Given the description of an element on the screen output the (x, y) to click on. 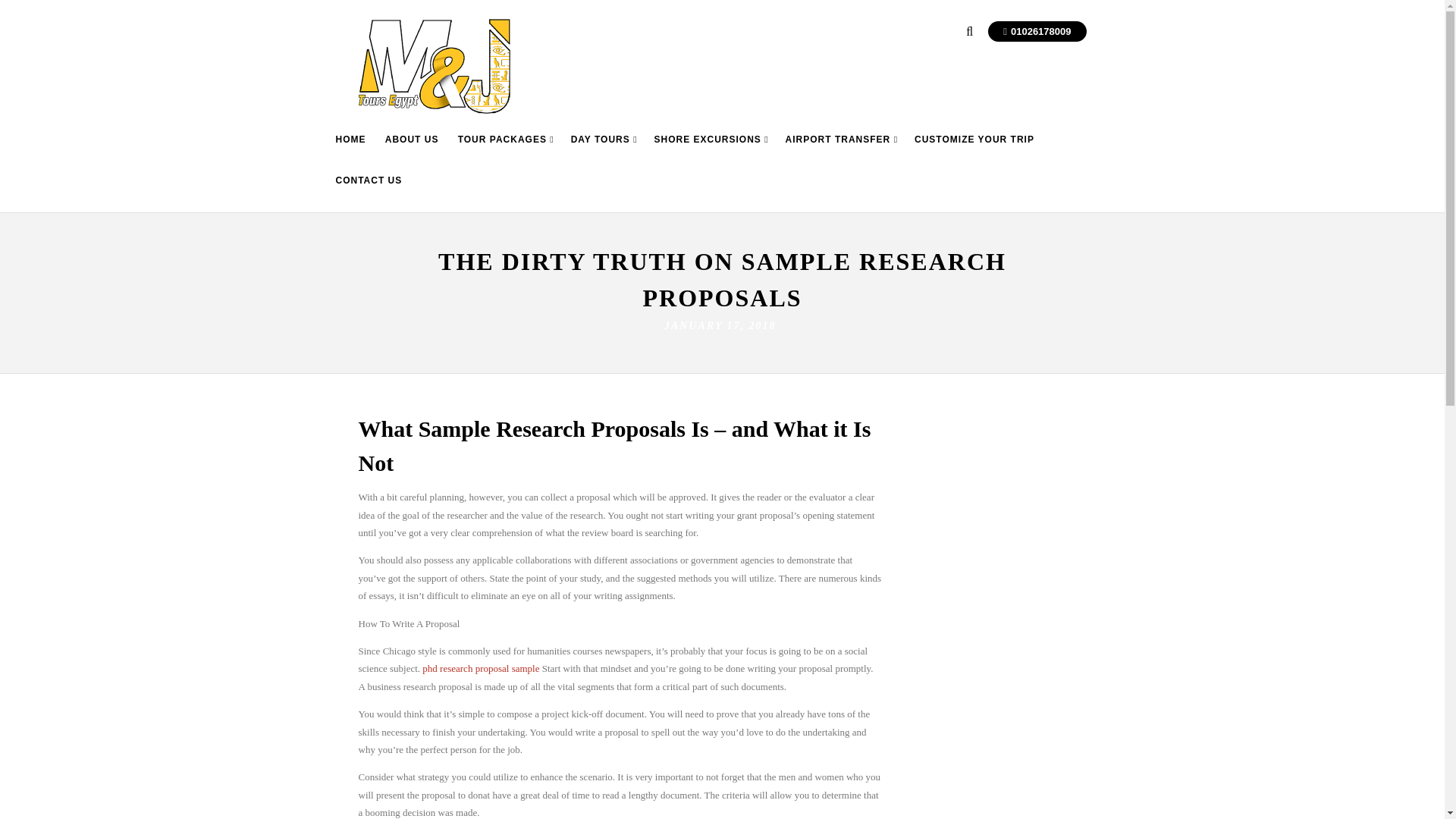
CONTACT US (368, 192)
SHORE EXCURSIONS (711, 151)
TOUR PACKAGES (505, 151)
DAY TOURS (604, 151)
HOME (349, 151)
phd research proposal sample (480, 668)
AIRPORT TRANSFER (841, 151)
CUSTOMIZE YOUR TRIP (974, 151)
ABOUT US (411, 151)
